Given the description of an element on the screen output the (x, y) to click on. 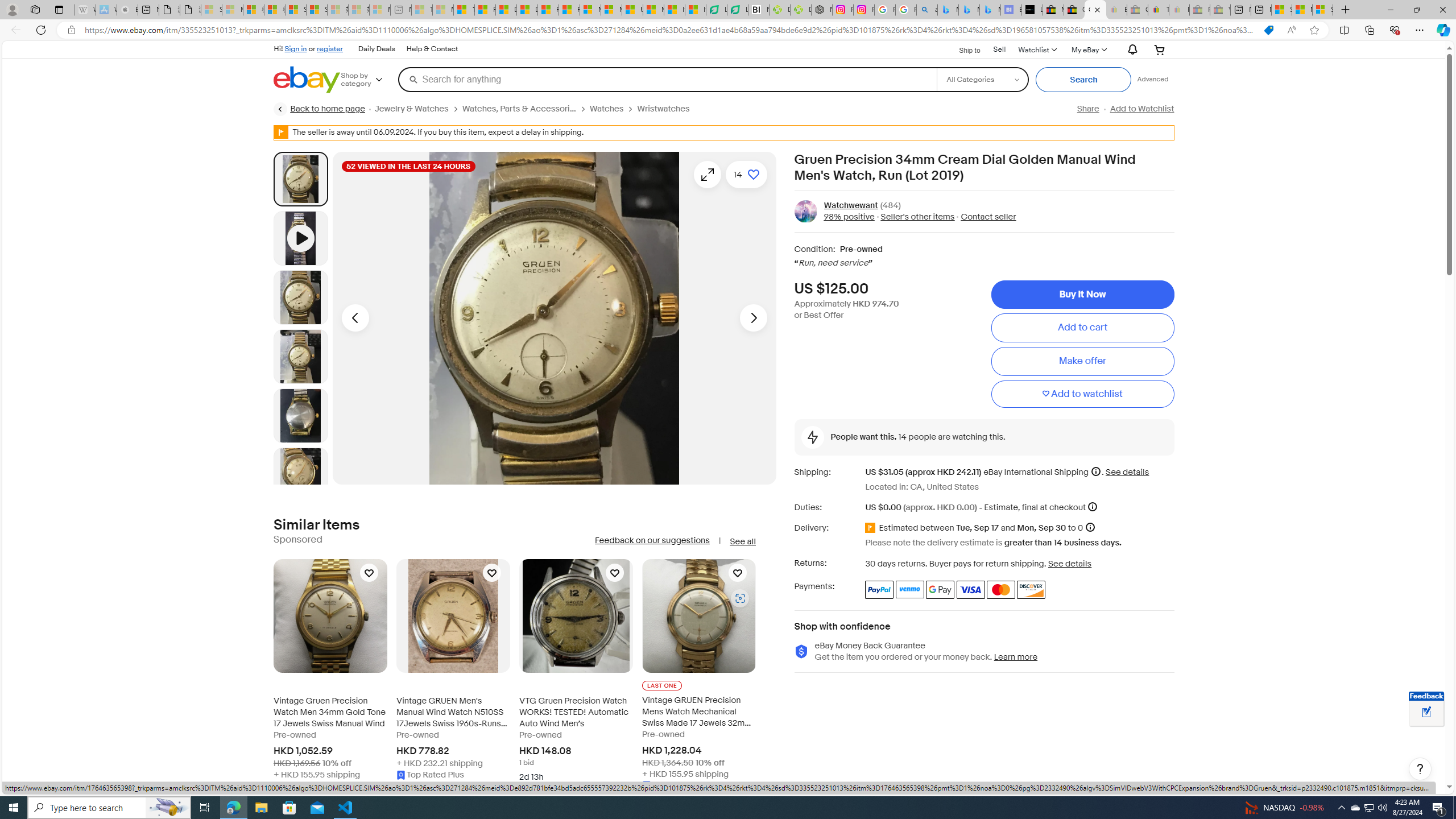
Microsoft account | Account Checkup - Sleeping (379, 9)
Food and Drink - MSN (485, 9)
Make offer (1082, 361)
PayPal (878, 588)
My eBay (1088, 49)
Ship to (962, 48)
Video 1 of 1 (300, 238)
Microsoft Bing Travel - Flights from Hong Kong to Bangkok (948, 9)
Buy It Now (1082, 294)
Ship to (962, 50)
Daily Deals (376, 49)
